Given the description of an element on the screen output the (x, y) to click on. 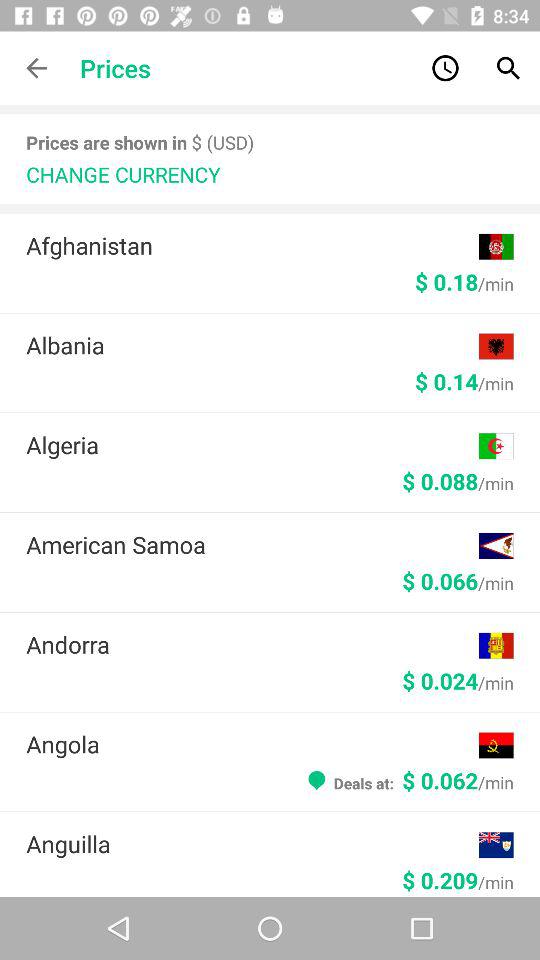
choose the icon above the $ 0.209/min icon (252, 843)
